Given the description of an element on the screen output the (x, y) to click on. 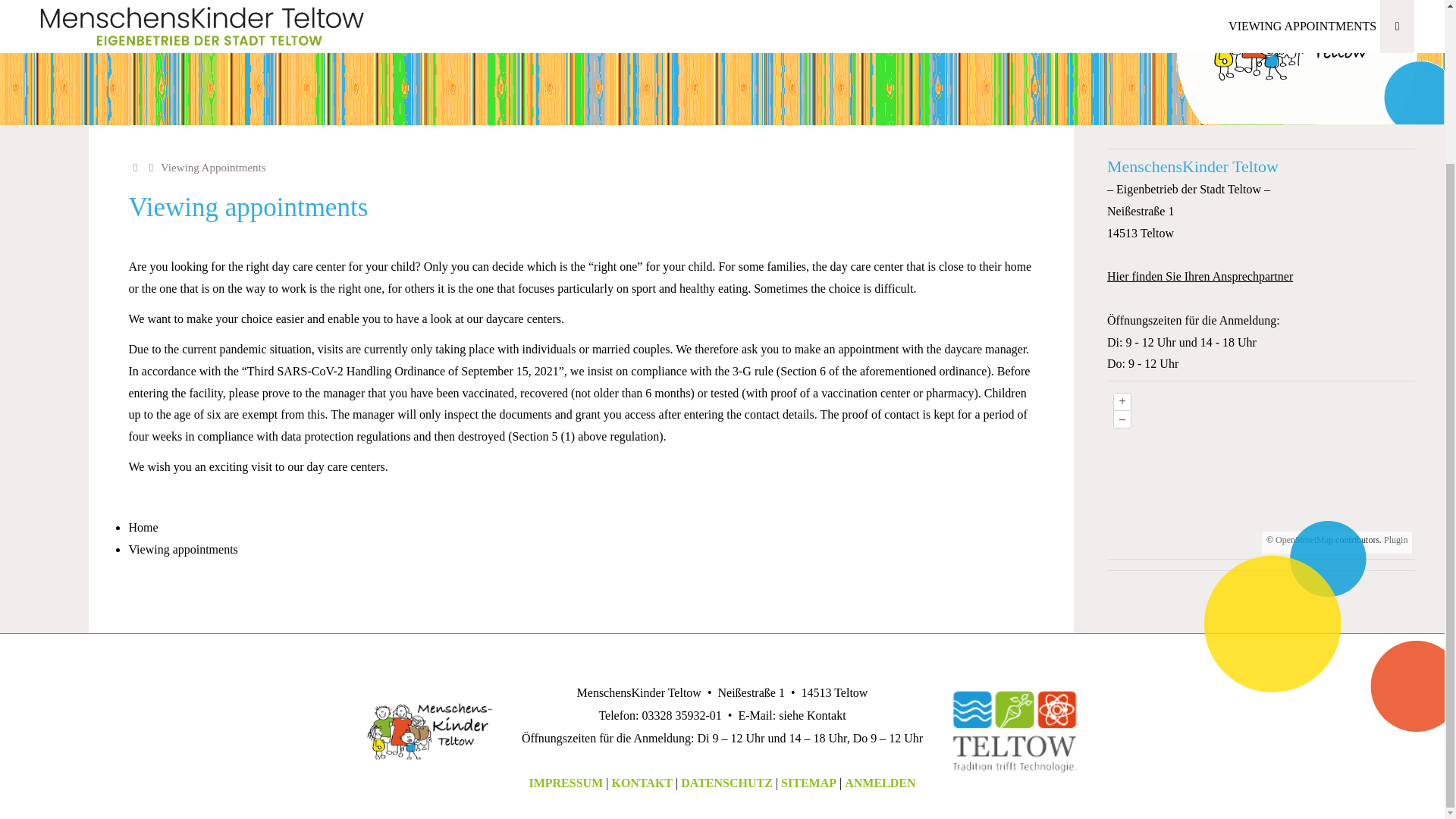
Home (142, 526)
SITEMAP (807, 782)
Viewing appointments (182, 549)
IMPRESSUM (565, 782)
Home (136, 167)
Plugin (1394, 539)
ANMELDEN (879, 782)
KONTAKT (641, 782)
DATENSCHUTZ (727, 782)
Home (136, 167)
Zoom in (1122, 401)
Hier finden Sie Ihren Ansprechpartner (1199, 276)
Zoom out (1122, 419)
OpenStreetMap (1304, 539)
